Given the description of an element on the screen output the (x, y) to click on. 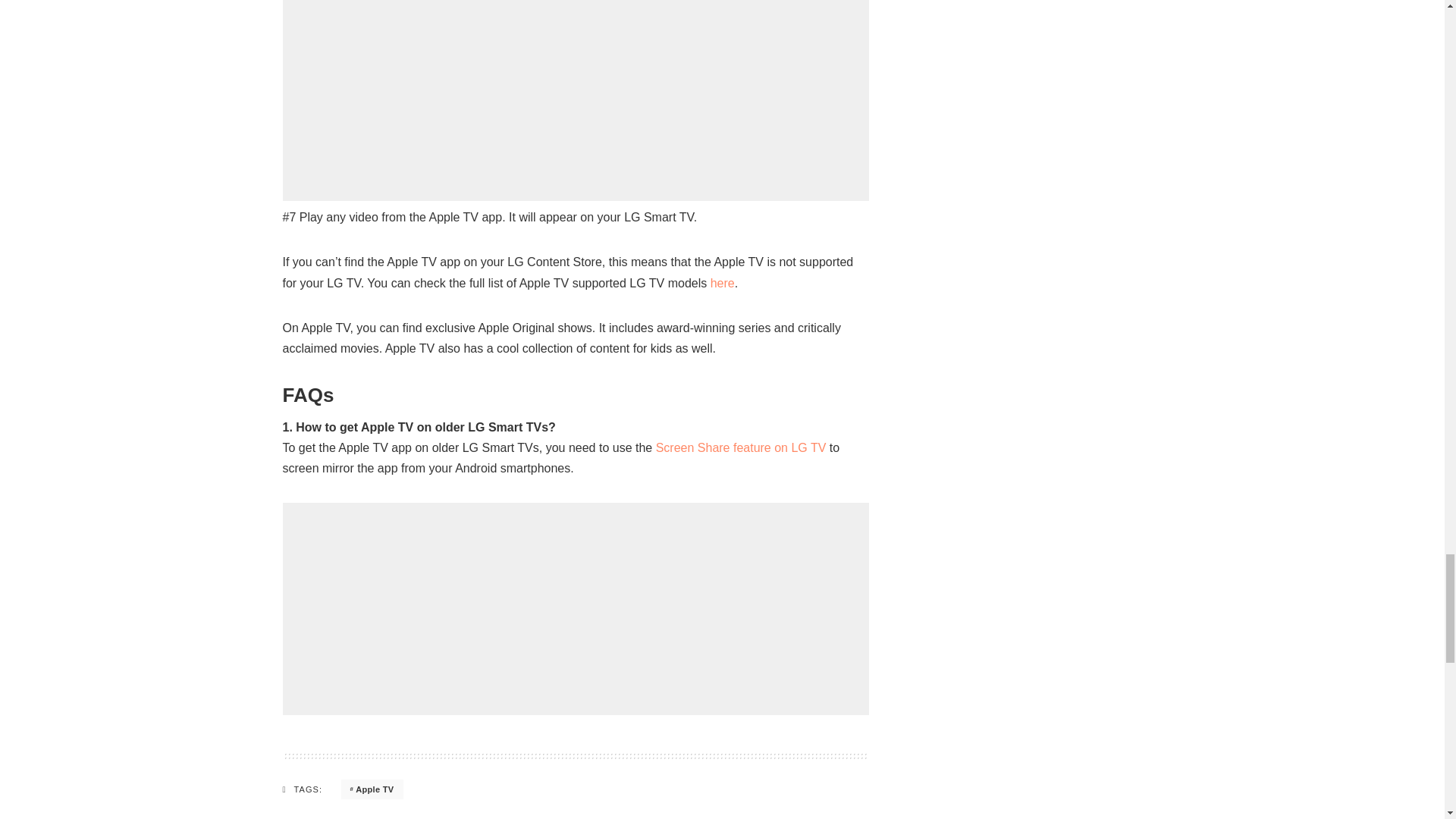
here (722, 282)
